Given the description of an element on the screen output the (x, y) to click on. 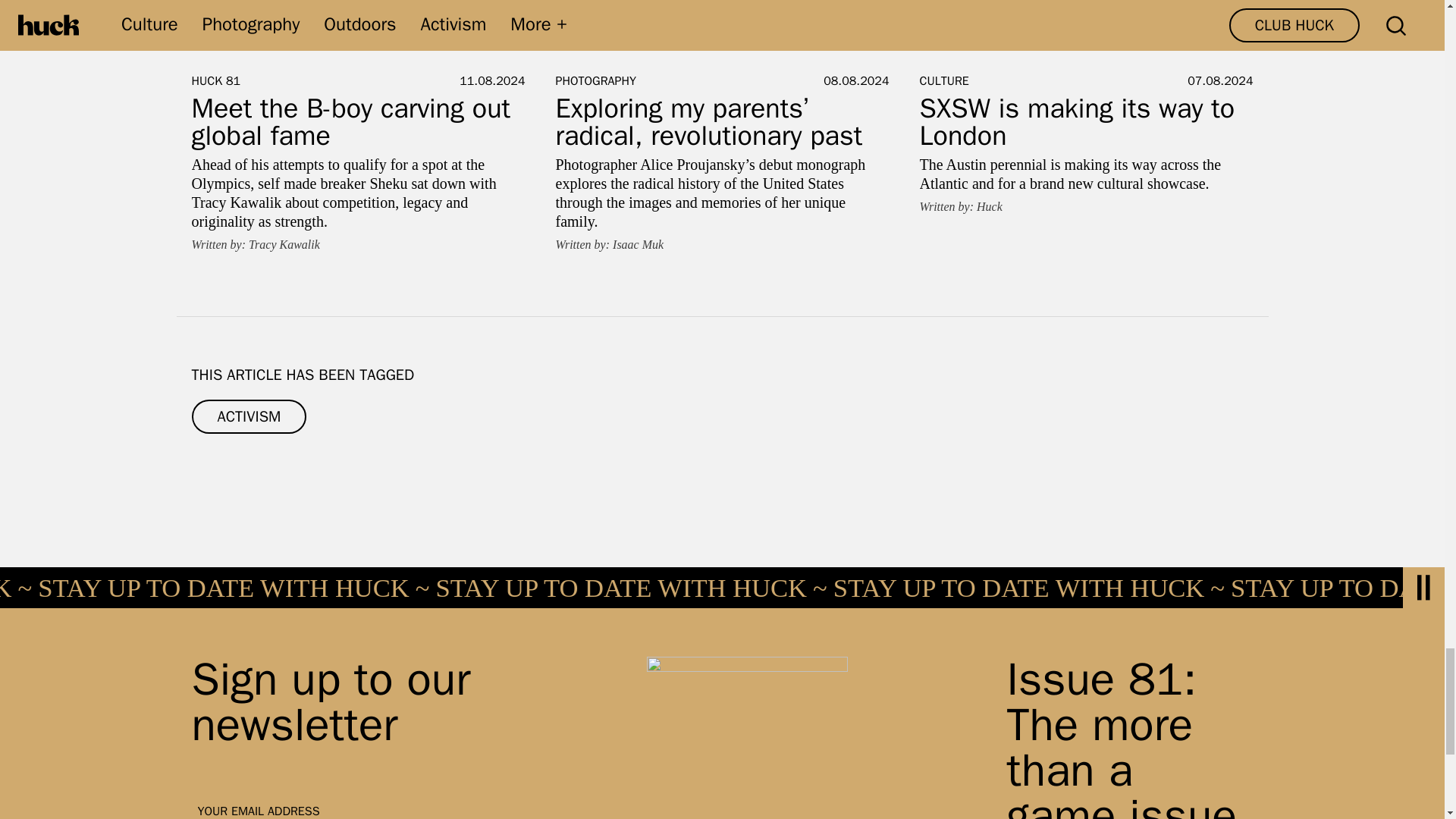
ACTIVISM (247, 416)
